Given the description of an element on the screen output the (x, y) to click on. 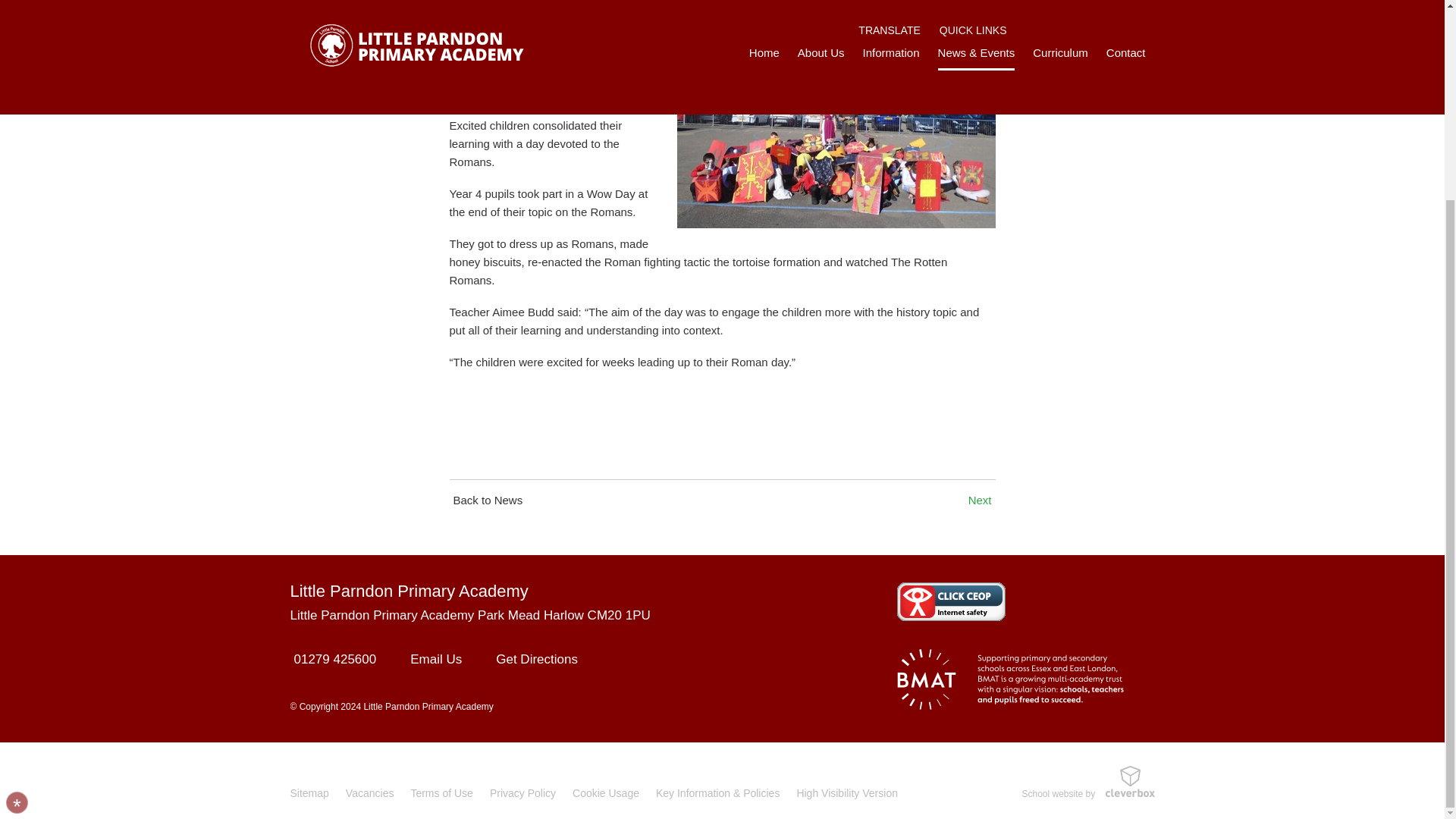
Back to news (485, 499)
Next Article (981, 500)
CEOP (950, 601)
bmat (1009, 679)
Cookie Settings (16, 550)
